Given the description of an element on the screen output the (x, y) to click on. 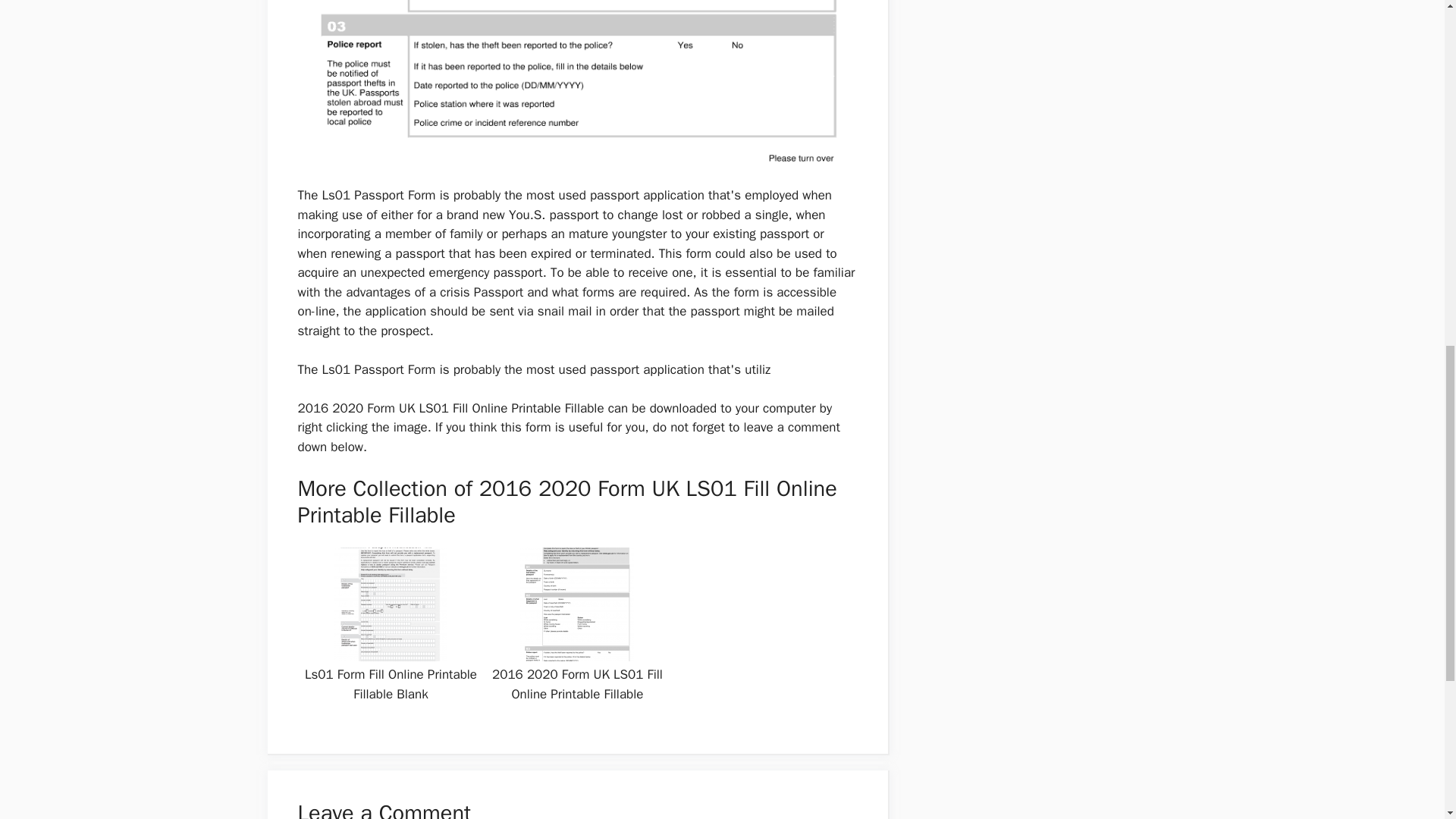
2016 2020 Form UK LS01 Fill Online Printable Fillable (577, 89)
